Given the description of an element on the screen output the (x, y) to click on. 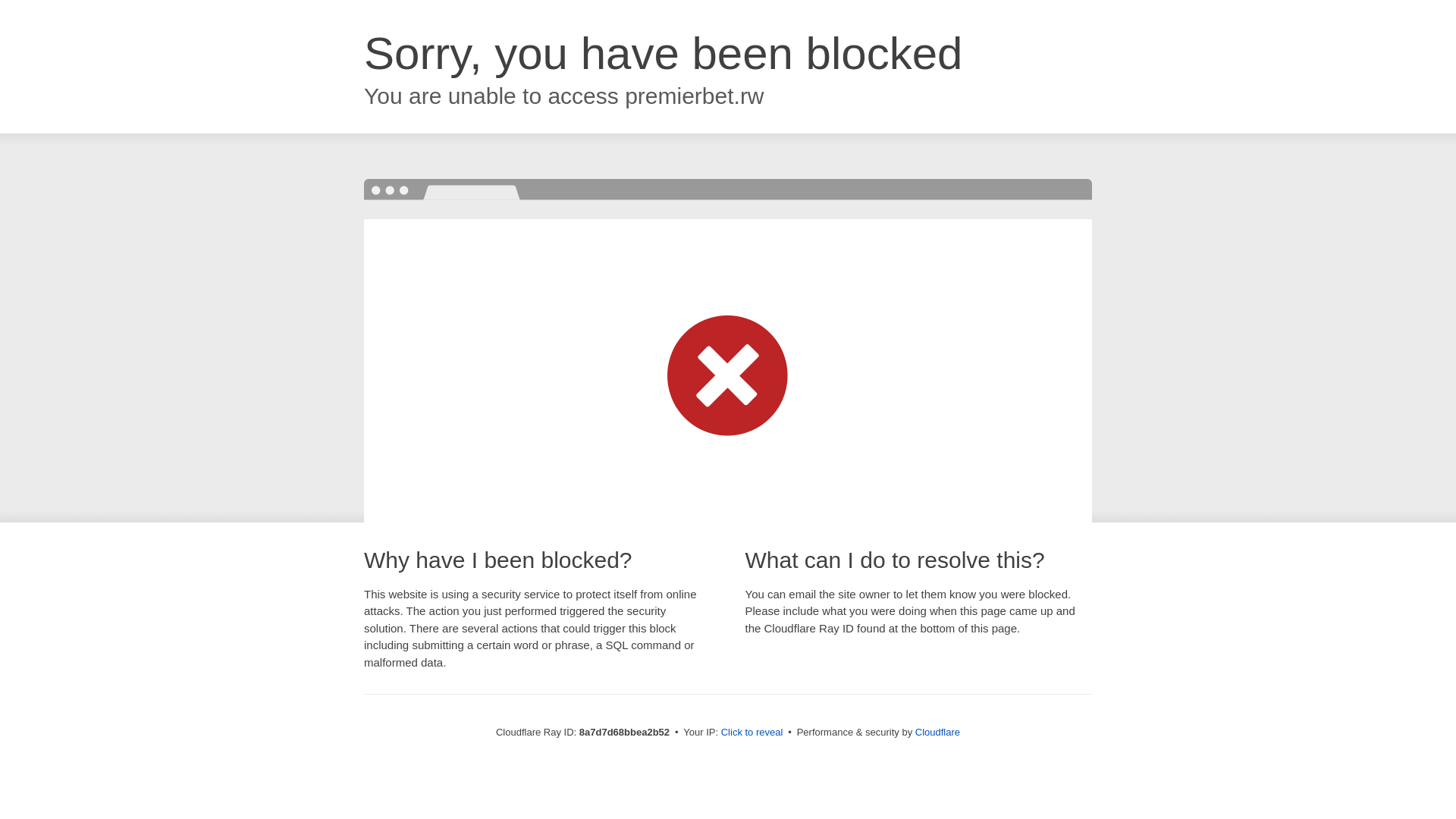
Cloudflare (937, 731)
Click to reveal (751, 732)
